Given the description of an element on the screen output the (x, y) to click on. 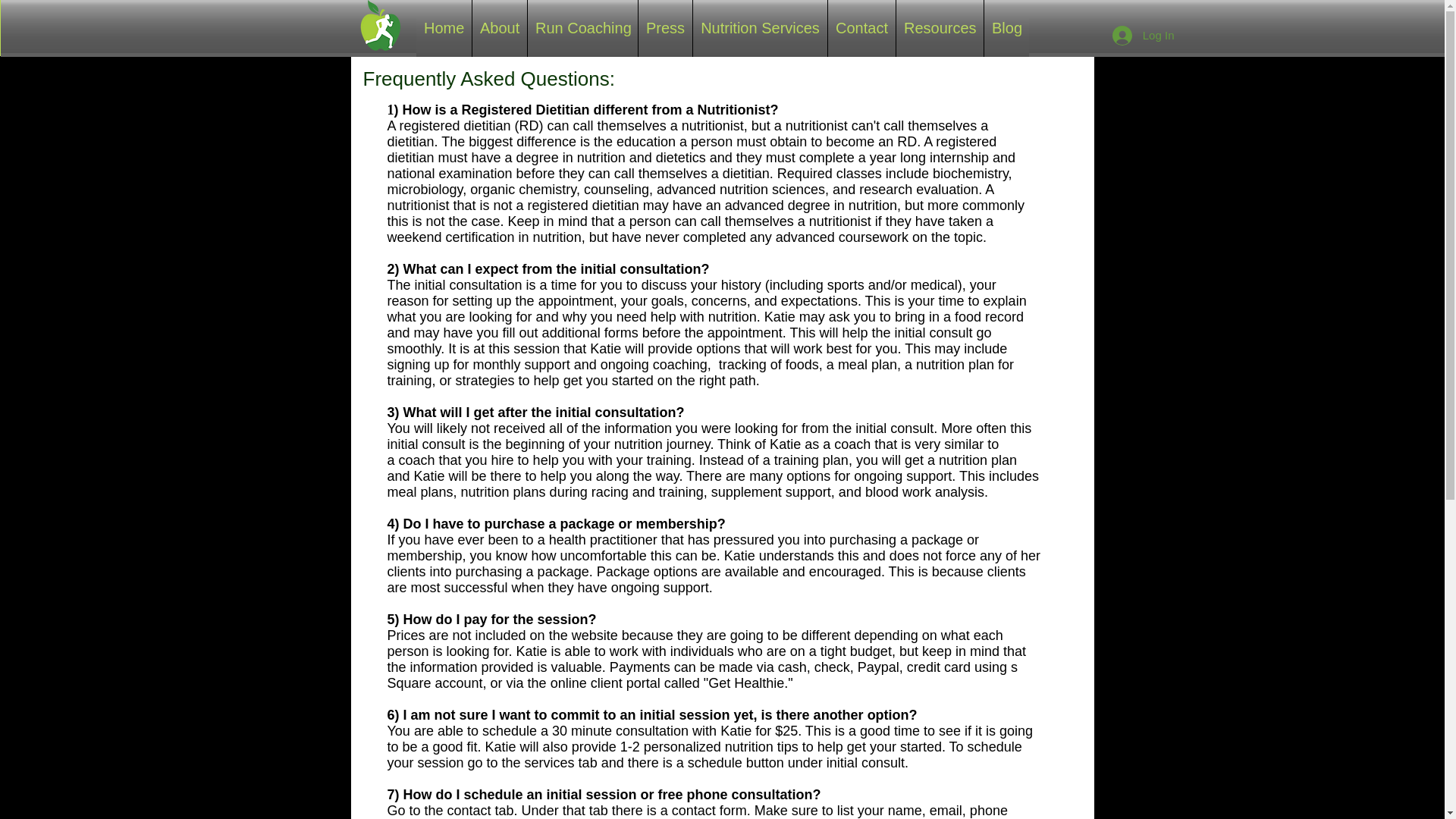
Nutrition Services (760, 28)
Log In (1143, 35)
About (499, 28)
Resources (940, 28)
Home (443, 28)
Press (666, 28)
Run Coaching (582, 28)
Contact (861, 28)
